Given the description of an element on the screen output the (x, y) to click on. 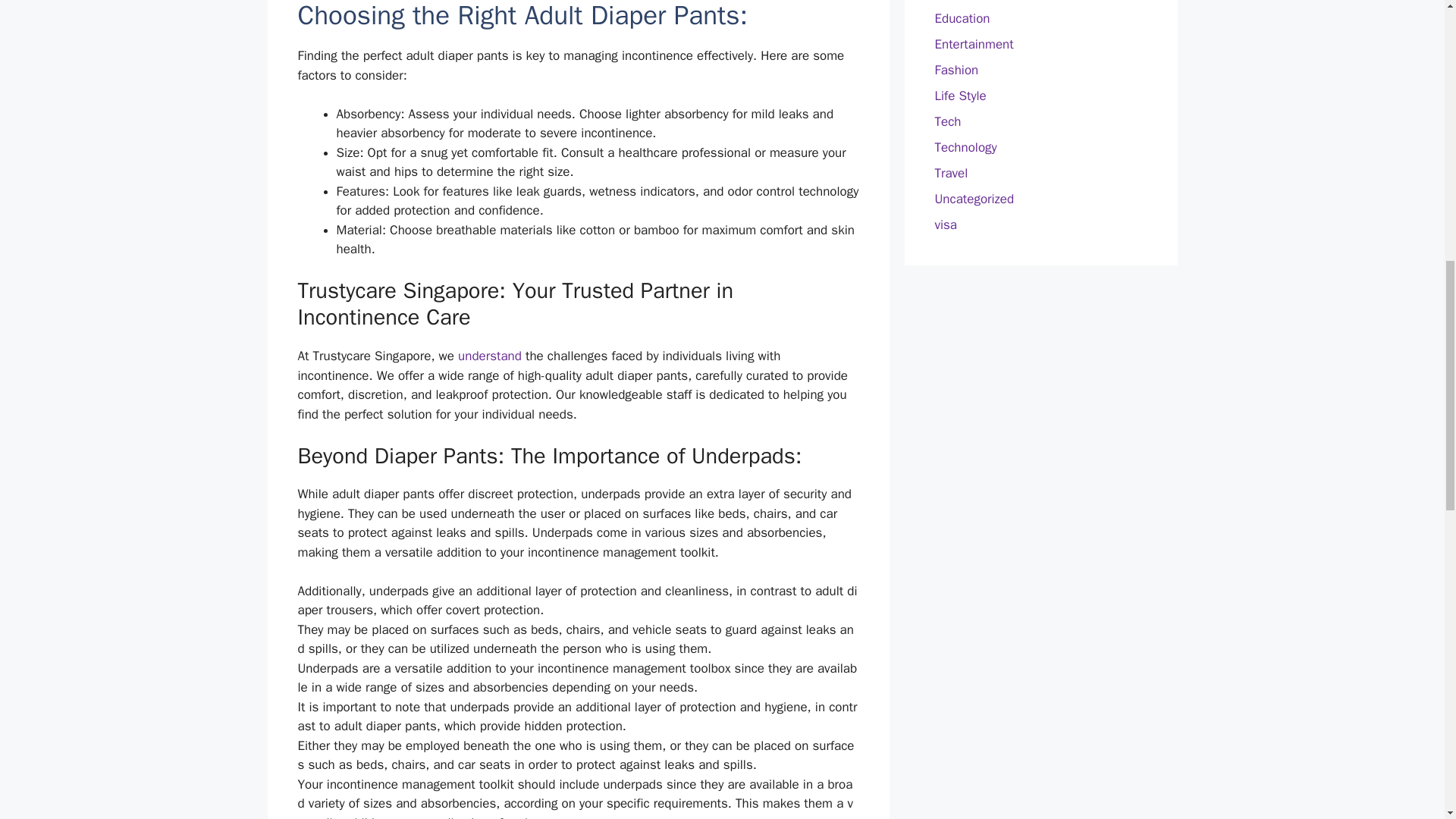
Entertainment (973, 44)
Life Style (959, 95)
Education (962, 18)
Technology (964, 147)
Travel (951, 172)
Fashion (956, 69)
Tech (947, 121)
visa (945, 224)
understand (489, 355)
Uncategorized (973, 198)
